Given the description of an element on the screen output the (x, y) to click on. 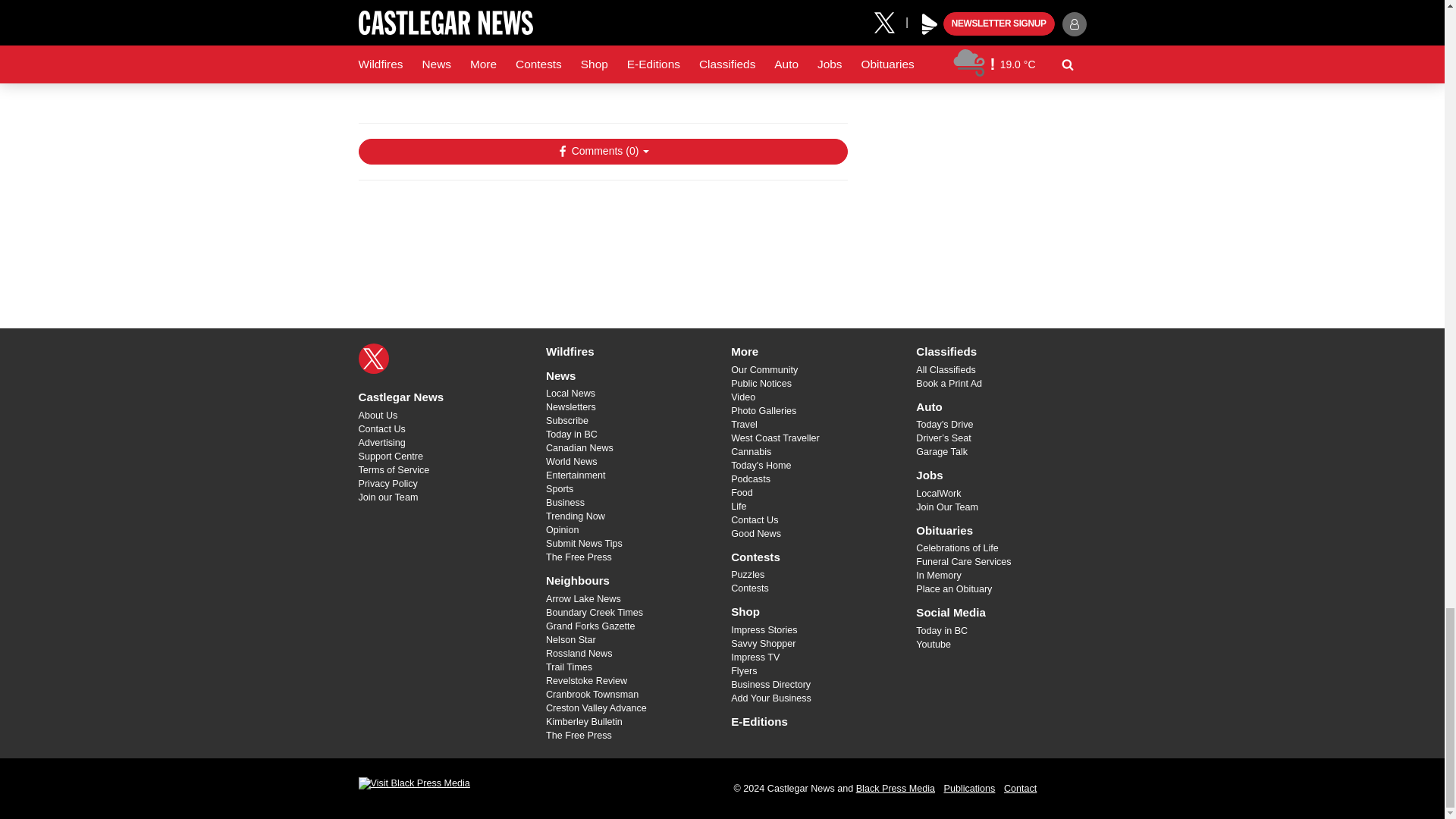
Show Comments (602, 151)
X (373, 358)
